Given the description of an element on the screen output the (x, y) to click on. 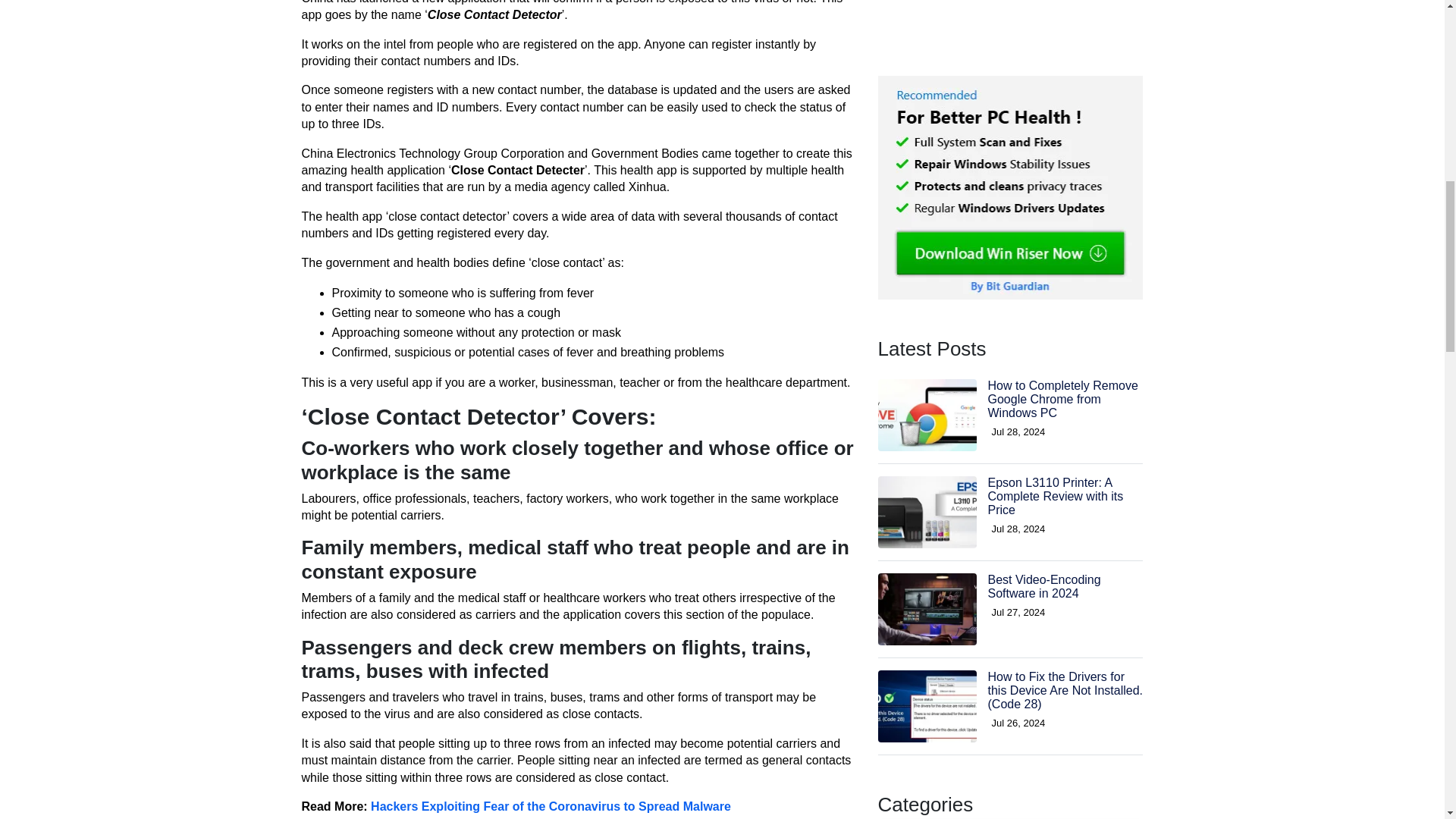
How to Completely Remove Google Chrome from Windows PC (1062, 279)
Hackers Exploiting Fear of the Coronavirus to Spread Malware (550, 806)
